Given the description of an element on the screen output the (x, y) to click on. 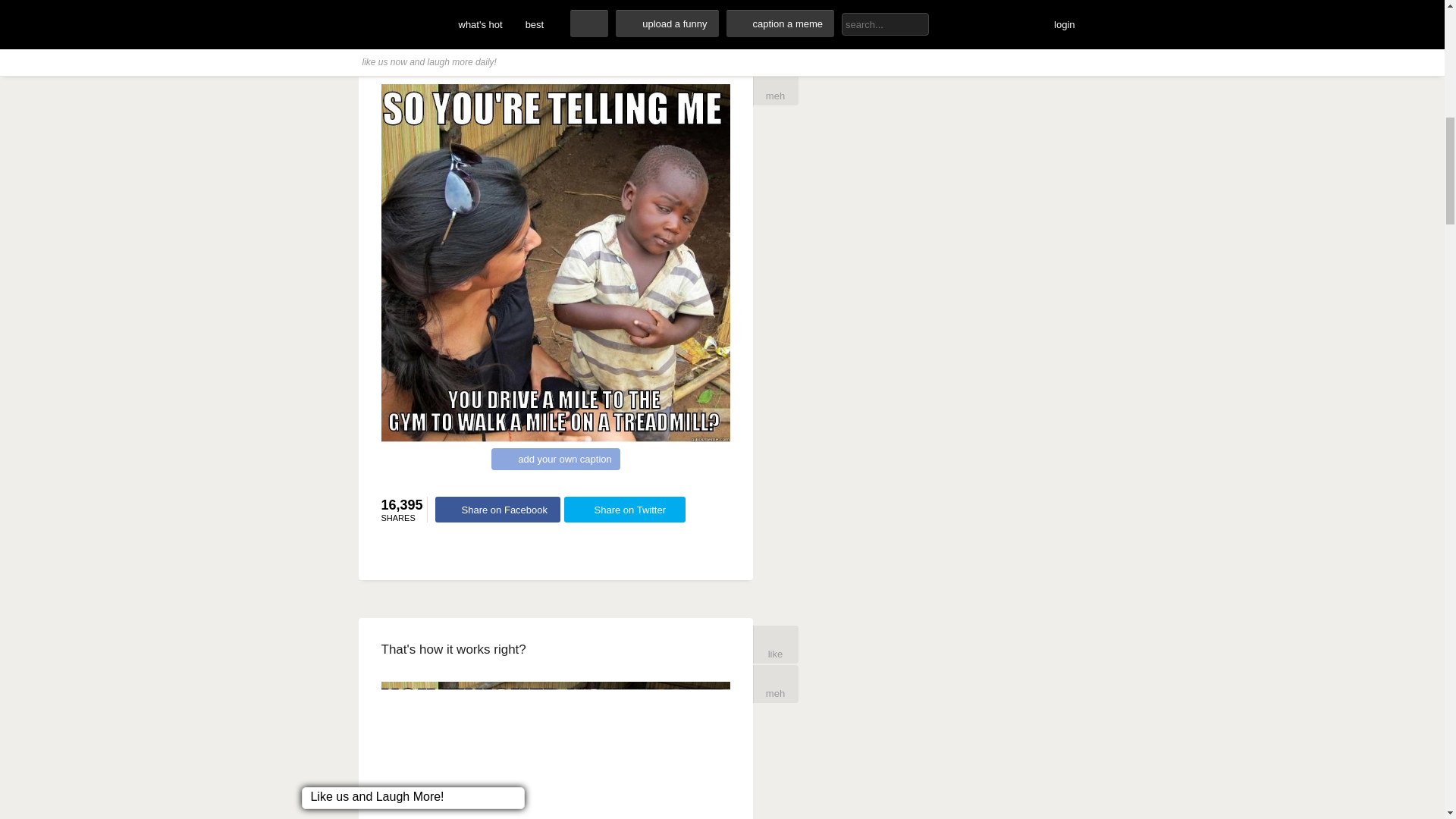
like (774, 644)
add your own caption (556, 458)
I've never understood this (453, 51)
Share on Twitter (624, 509)
That's how it works right? (452, 649)
Share on Facebook (497, 509)
like (774, 46)
meh (774, 683)
meh (774, 86)
